Given the description of an element on the screen output the (x, y) to click on. 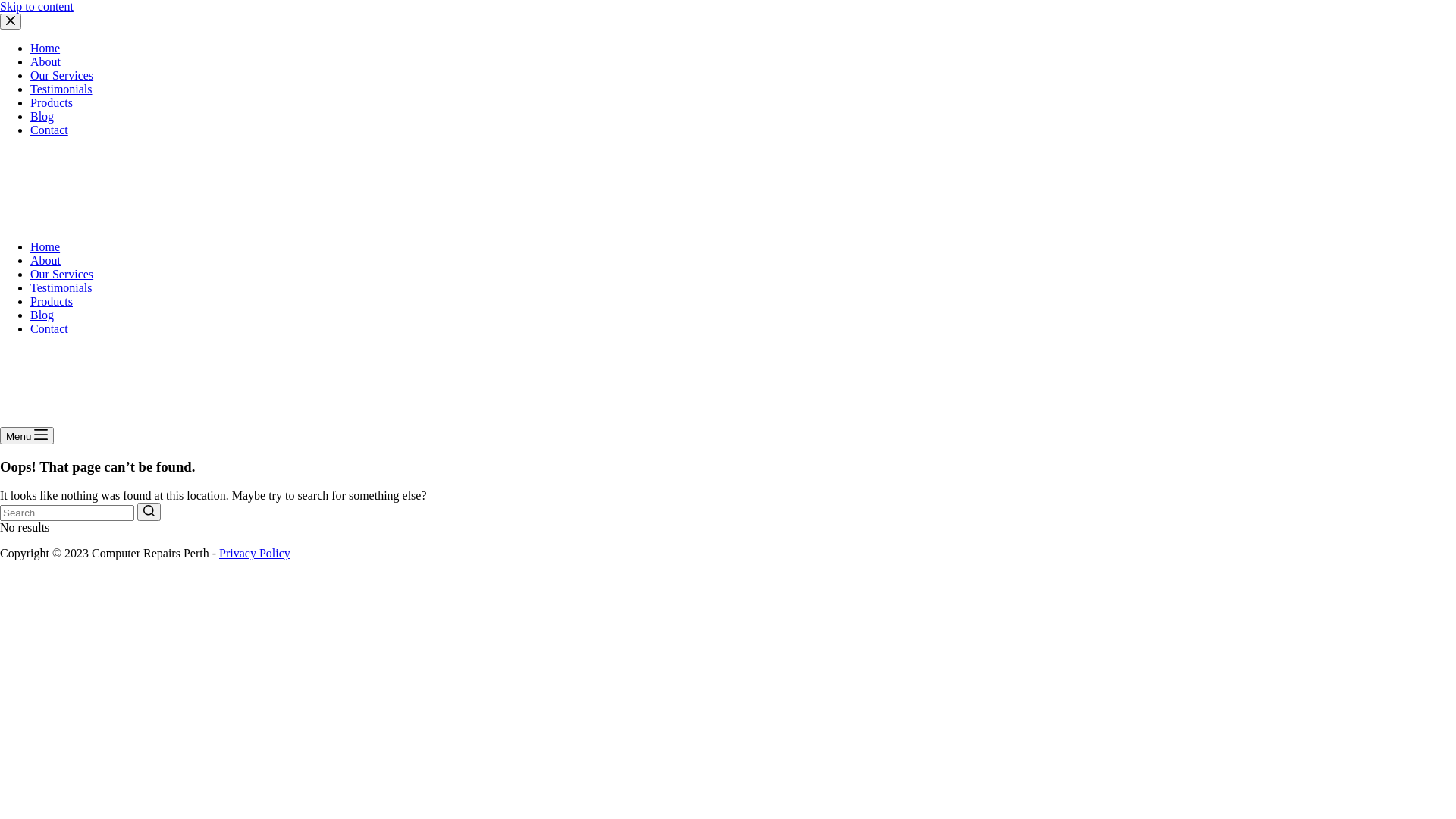
Blog Element type: text (41, 314)
Contact Element type: text (49, 129)
Our Services Element type: text (61, 75)
Skip to content Element type: text (36, 6)
Products Element type: text (51, 102)
Our Services Element type: text (61, 273)
Menu Element type: text (26, 435)
Products Element type: text (51, 300)
Search for... Element type: hover (67, 512)
Blog Element type: text (41, 115)
Home Element type: text (44, 47)
Home Element type: text (44, 246)
Privacy Policy Element type: text (254, 552)
About Element type: text (45, 260)
Testimonials Element type: text (61, 88)
About Element type: text (45, 61)
Testimonials Element type: text (61, 287)
Contact Element type: text (49, 328)
